Given the description of an element on the screen output the (x, y) to click on. 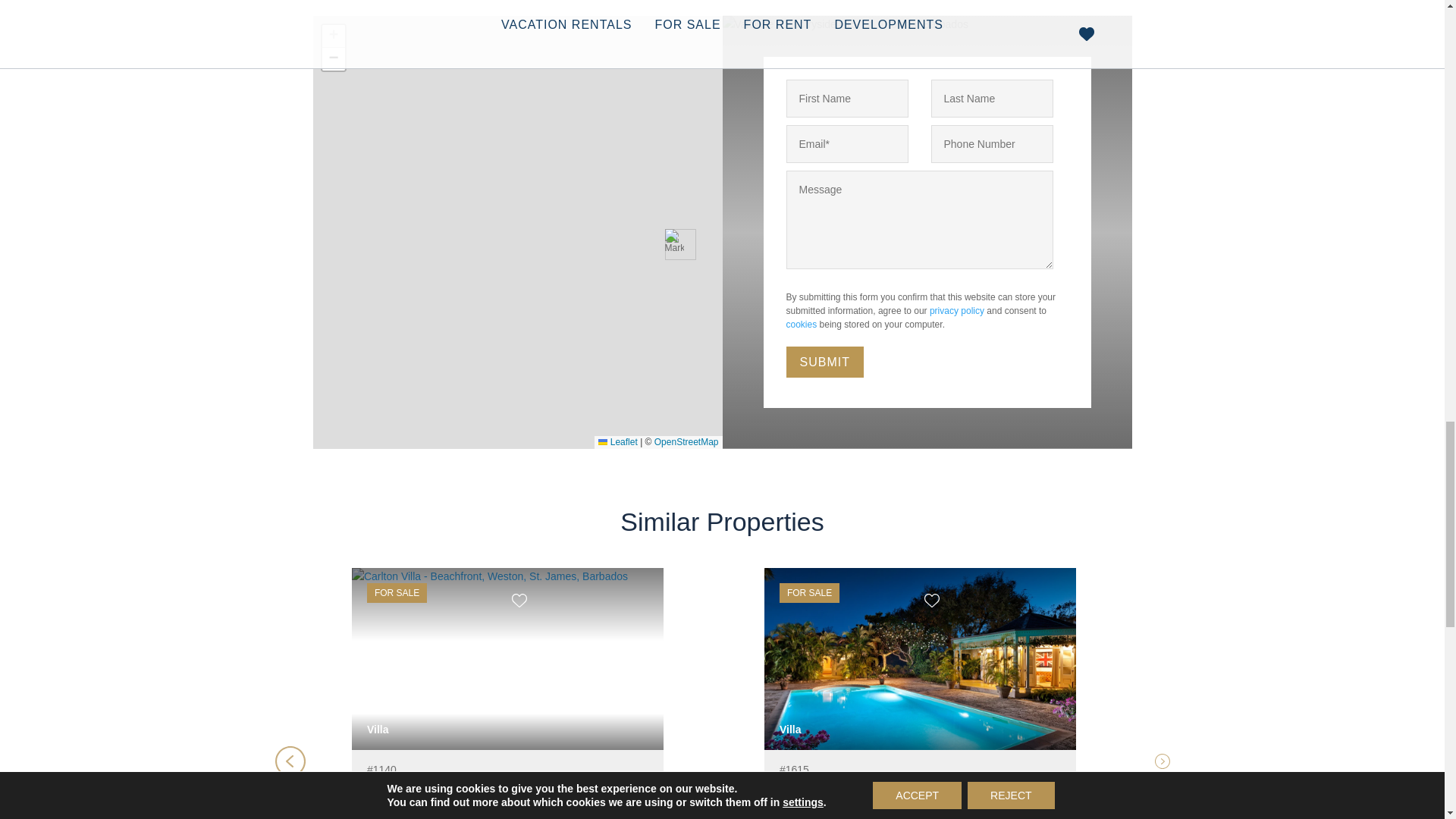
Zoom out (332, 58)
A JavaScript library for interactive maps (617, 441)
Zoom in (332, 36)
